Given the description of an element on the screen output the (x, y) to click on. 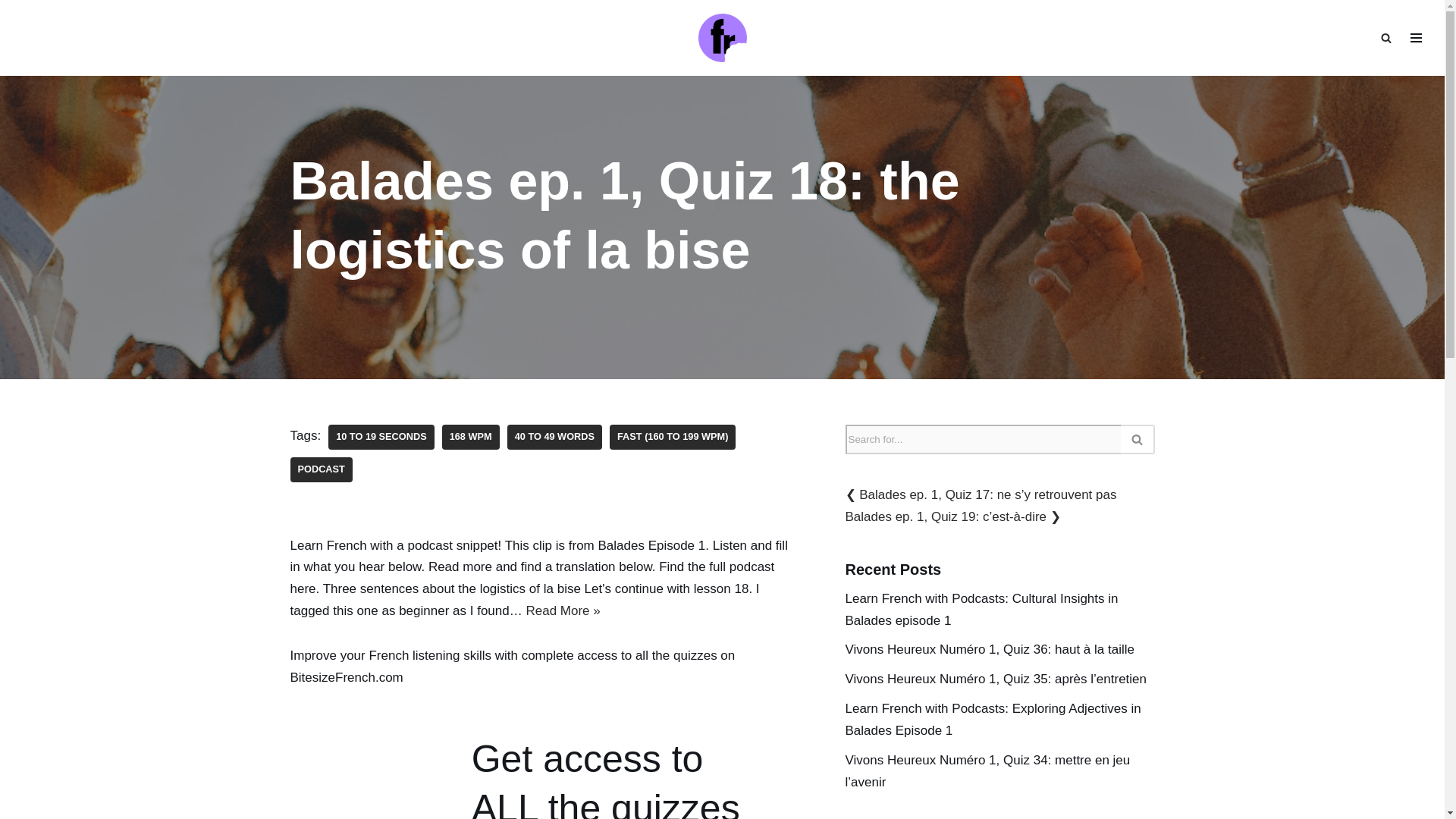
Skip to content (11, 31)
168 WPM (470, 437)
PODCAST (320, 469)
40 to 49 words (554, 437)
168 wpm (470, 437)
40 TO 49 WORDS (554, 437)
Navigation Menu (1415, 37)
10 TO 19 SECONDS (381, 437)
10 to 19 seconds (381, 437)
podcast (320, 469)
